Given the description of an element on the screen output the (x, y) to click on. 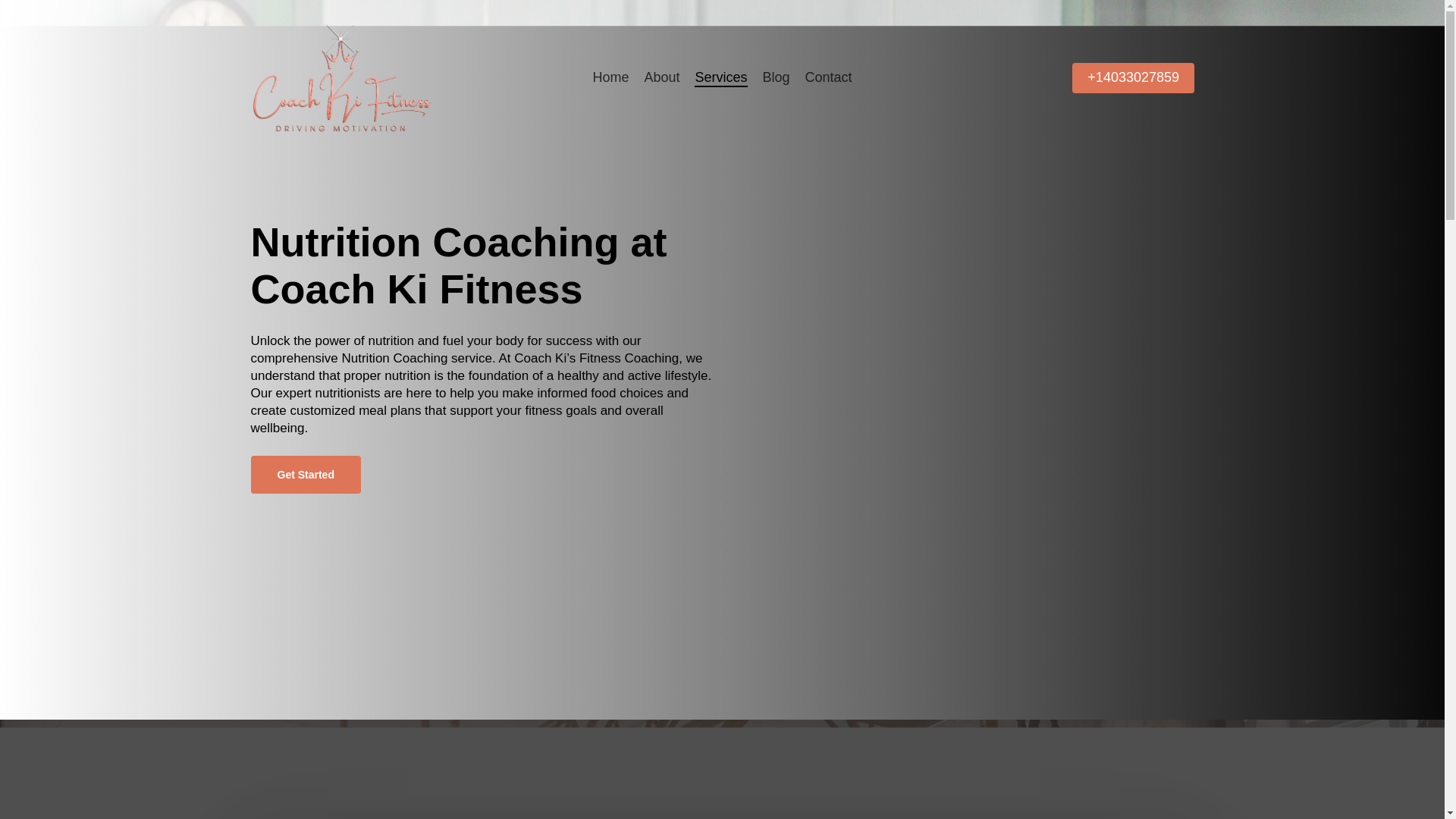
Home (610, 76)
Services (720, 76)
About (661, 76)
Blog (776, 76)
Contact (828, 76)
Get Started (304, 474)
